Given the description of an element on the screen output the (x, y) to click on. 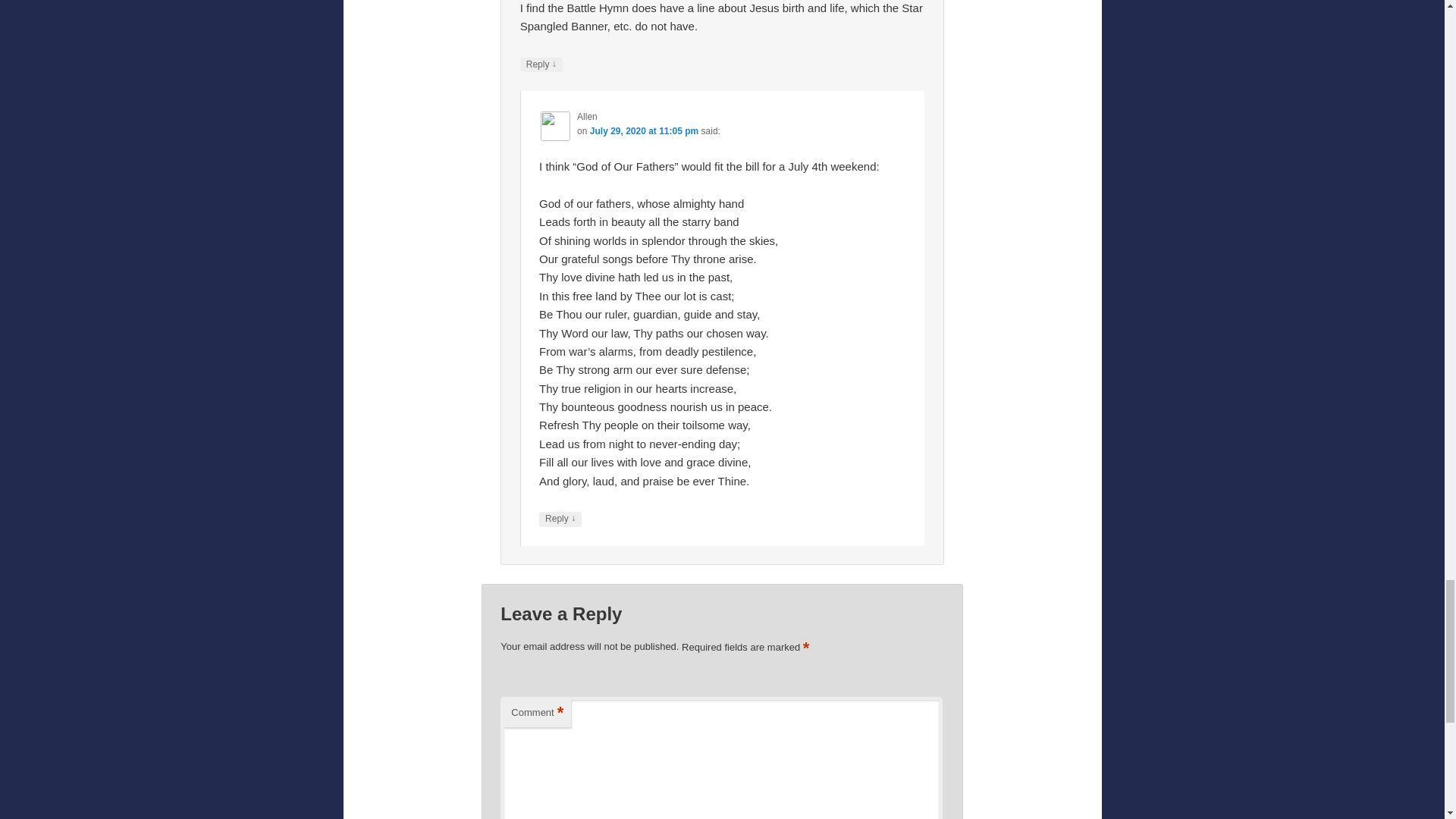
July 29, 2020 at 11:05 pm (643, 131)
